Given the description of an element on the screen output the (x, y) to click on. 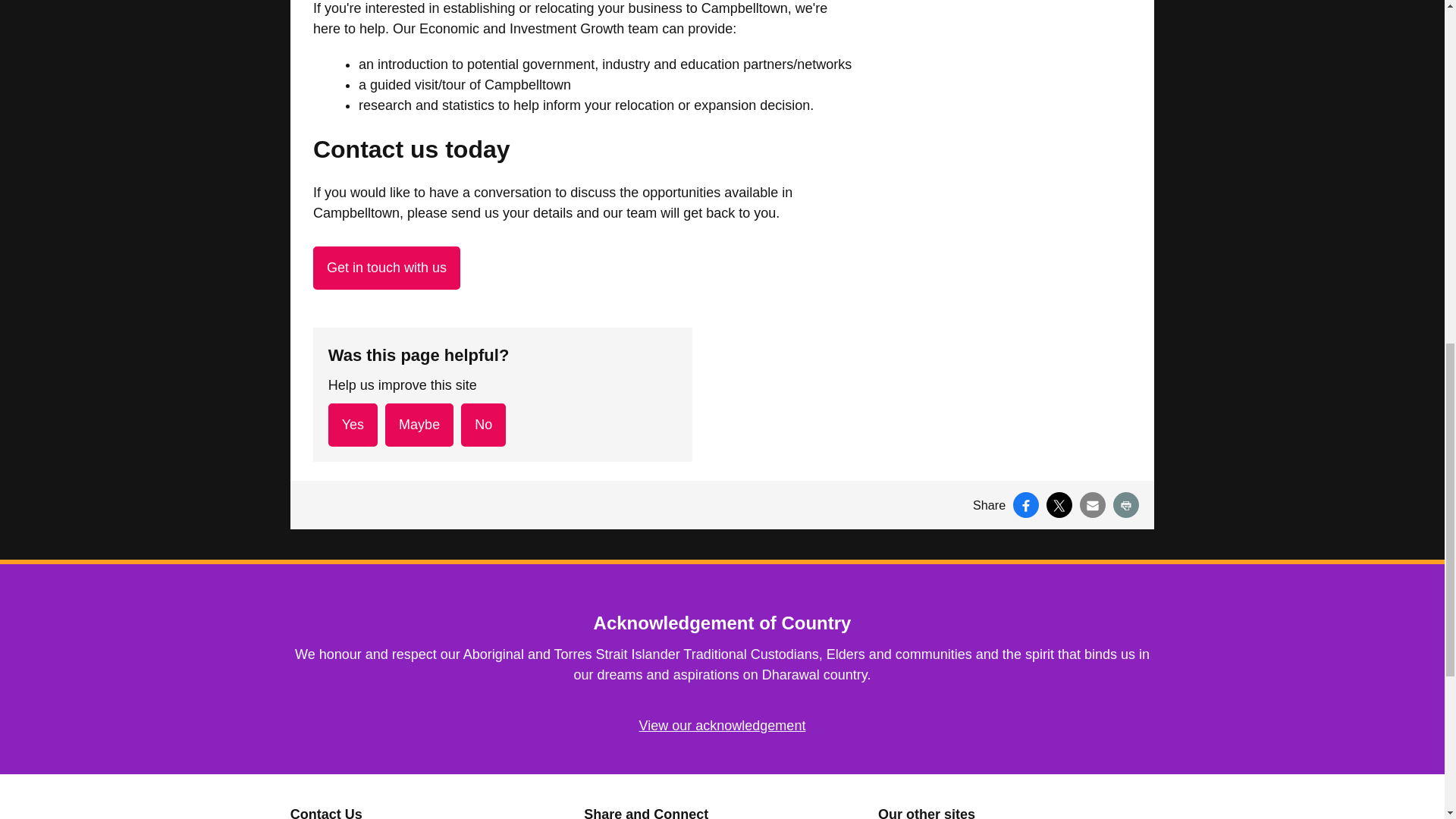
Investment Support Enquiry Form (386, 267)
Maybe (418, 424)
No, this page was not helpful (483, 424)
Yes, this page was helpful (353, 424)
No (483, 424)
Yes (353, 424)
